Given the description of an element on the screen output the (x, y) to click on. 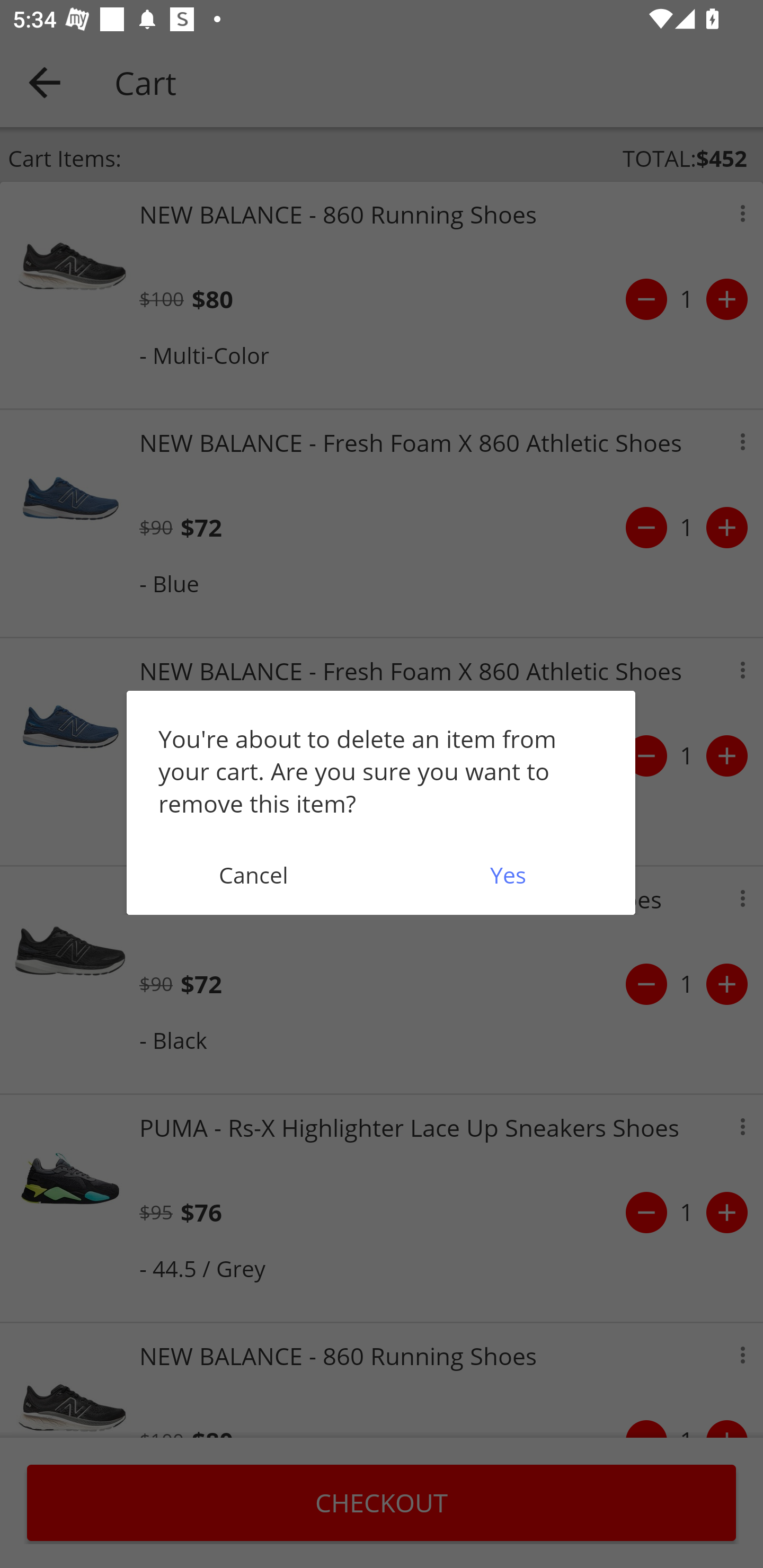
Cancel (253, 874)
Yes (507, 874)
